Given the description of an element on the screen output the (x, y) to click on. 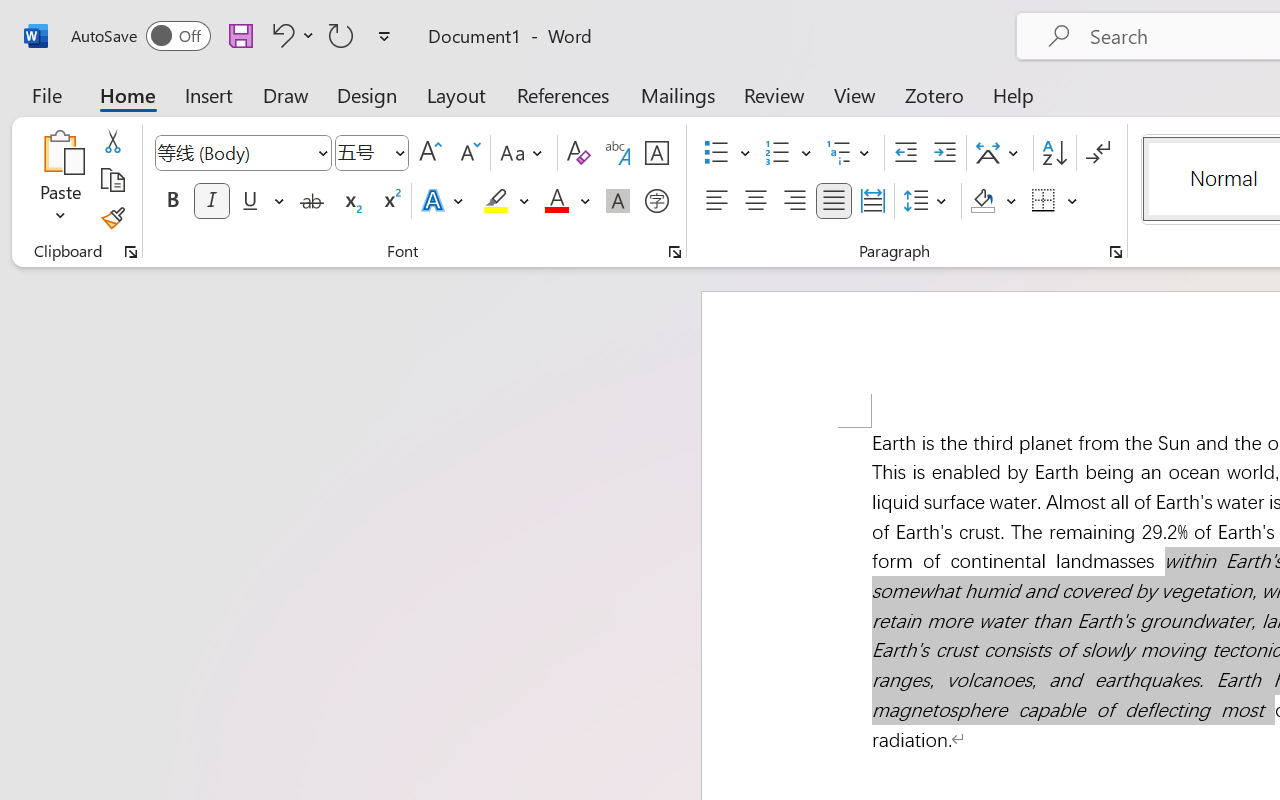
Export to Video (585, 114)
Save as Show (539, 114)
File Tab (26, 54)
More Options (91, 135)
Animations (388, 54)
